Given the description of an element on the screen output the (x, y) to click on. 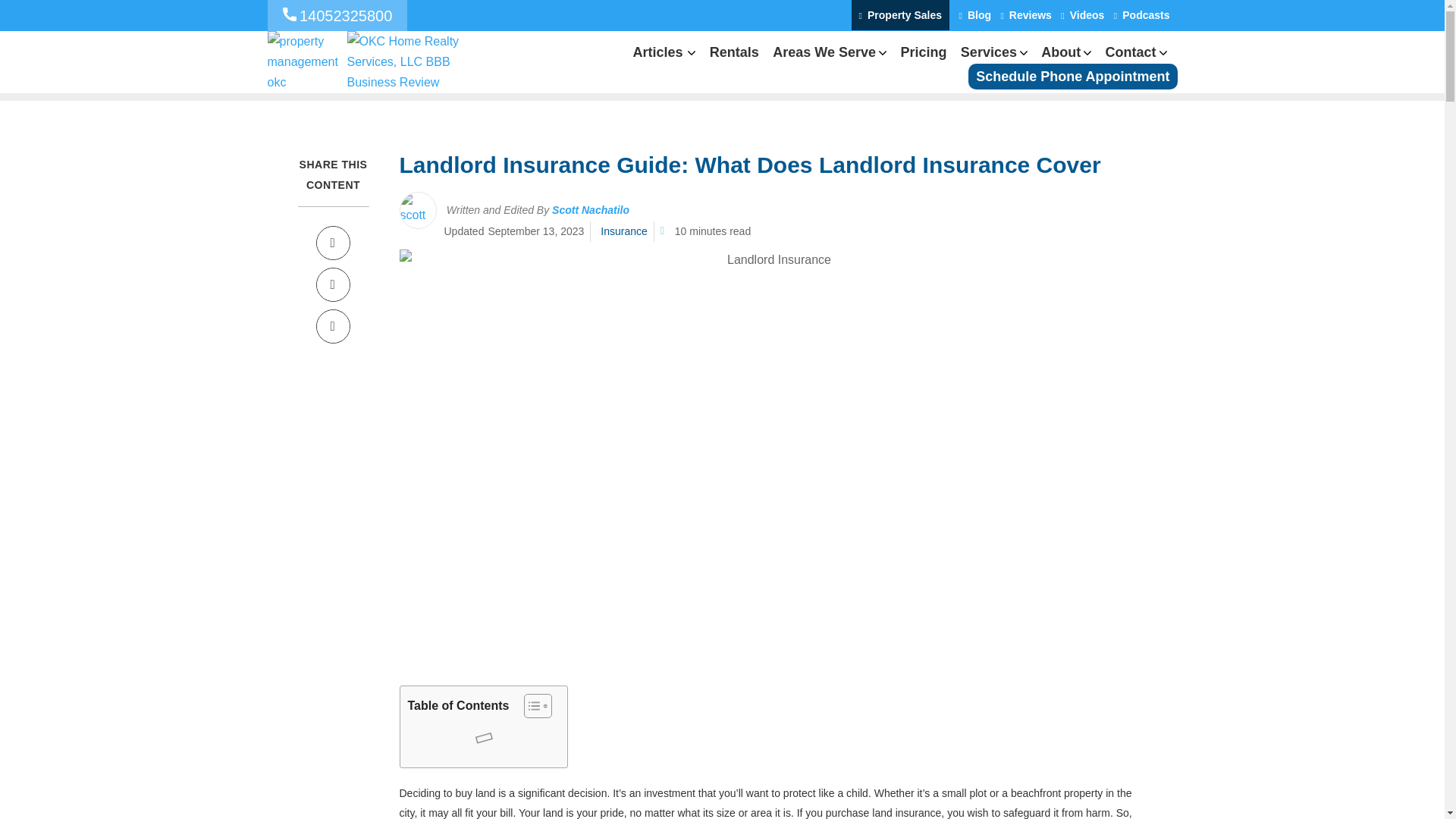
14052325800 (345, 15)
Blog (977, 15)
Reviews (1028, 15)
Services (988, 65)
Articles (657, 65)
Videos (1084, 15)
About (1060, 65)
Podcasts (1144, 15)
Rentals (734, 65)
Pricing (922, 65)
Areas We Serve (824, 65)
Property Sales (900, 15)
